Given the description of an element on the screen output the (x, y) to click on. 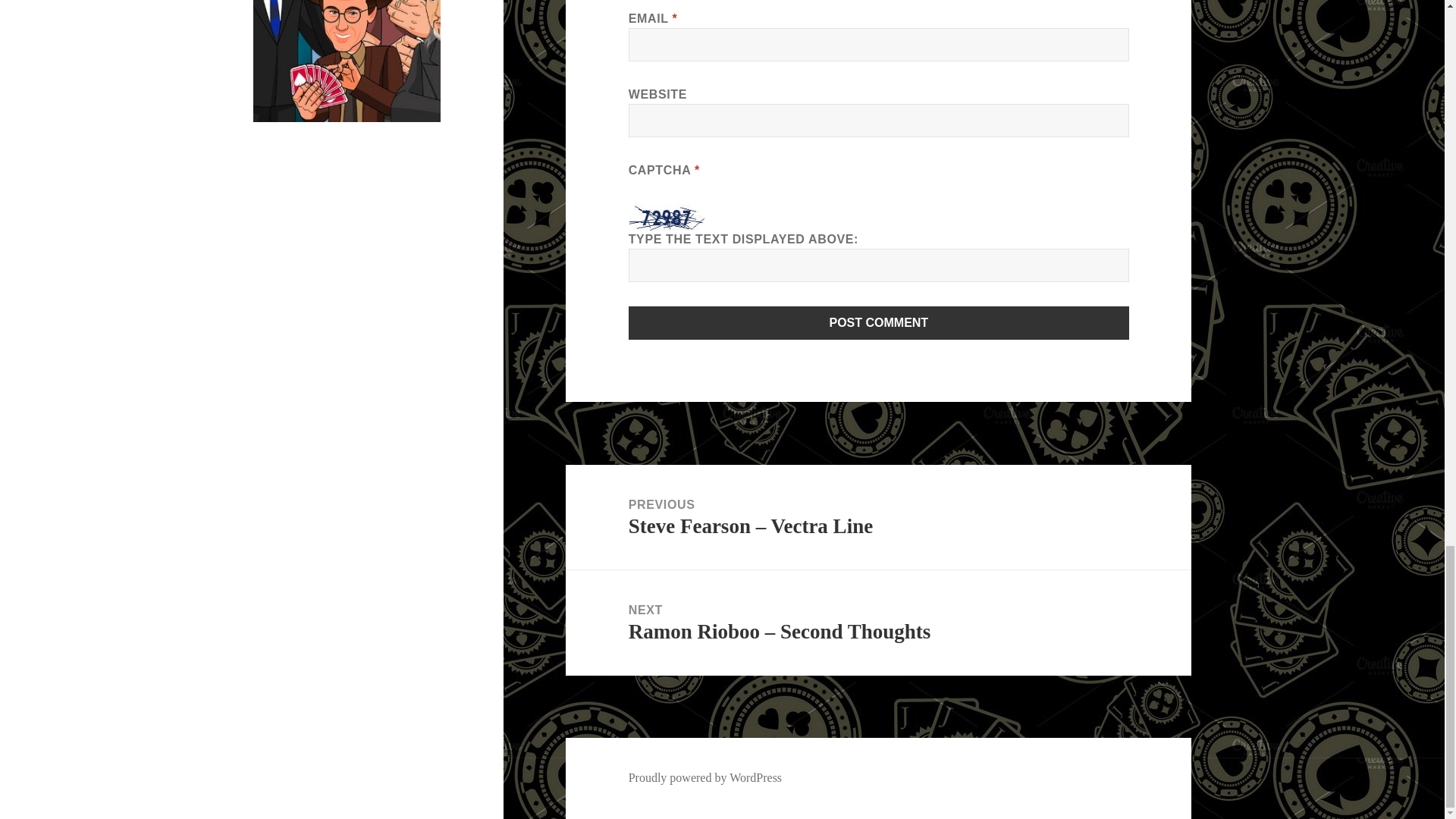
Proudly powered by WordPress (704, 777)
Post Comment (878, 322)
Penguin Live Act (347, 60)
Post Comment (878, 322)
